Given the description of an element on the screen output the (x, y) to click on. 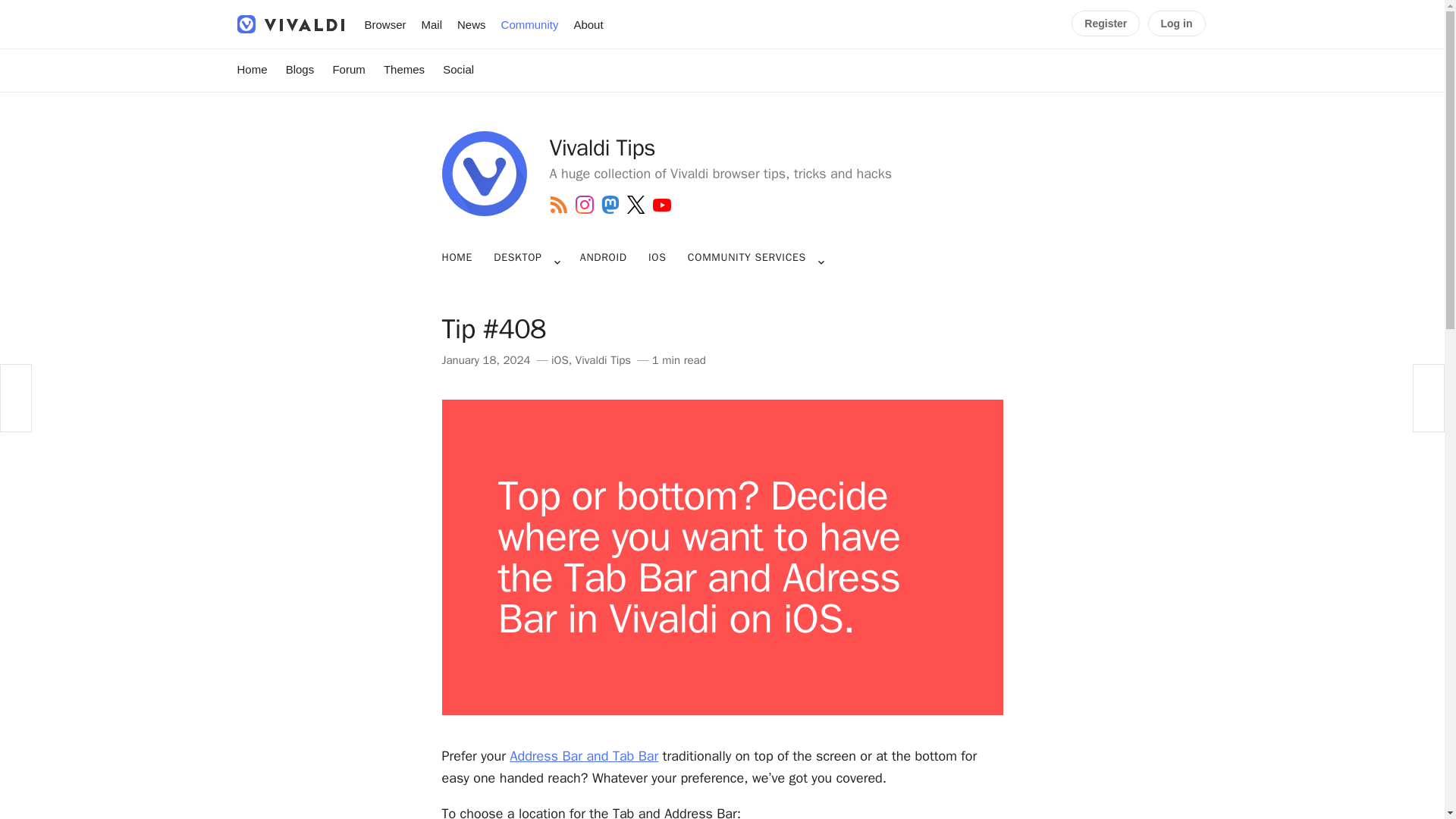
Mastodon (608, 204)
ANDROID (603, 257)
iOS (560, 359)
January 18, 2024 (485, 359)
Address Bar and Tab Bar (583, 755)
Vivaldi Tips (602, 359)
DESKTOP (517, 257)
Instagram (583, 204)
X (635, 204)
